Given the description of an element on the screen output the (x, y) to click on. 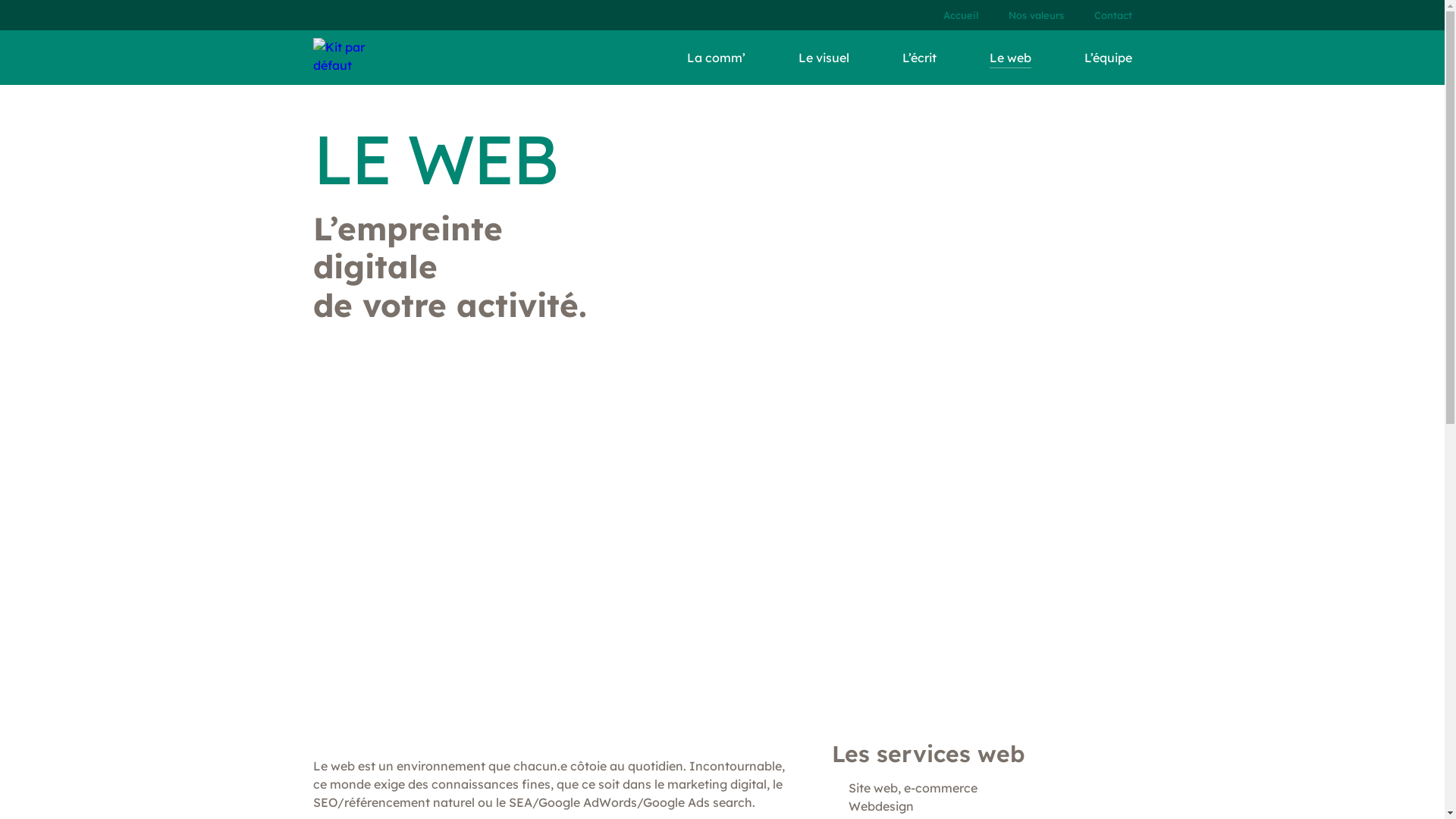
Le visuel Element type: text (822, 57)
Contact Element type: text (1112, 14)
  Accueil Element type: text (957, 14)
Le web Element type: text (1009, 57)
Nos valeurs Element type: text (1035, 14)
